Given the description of an element on the screen output the (x, y) to click on. 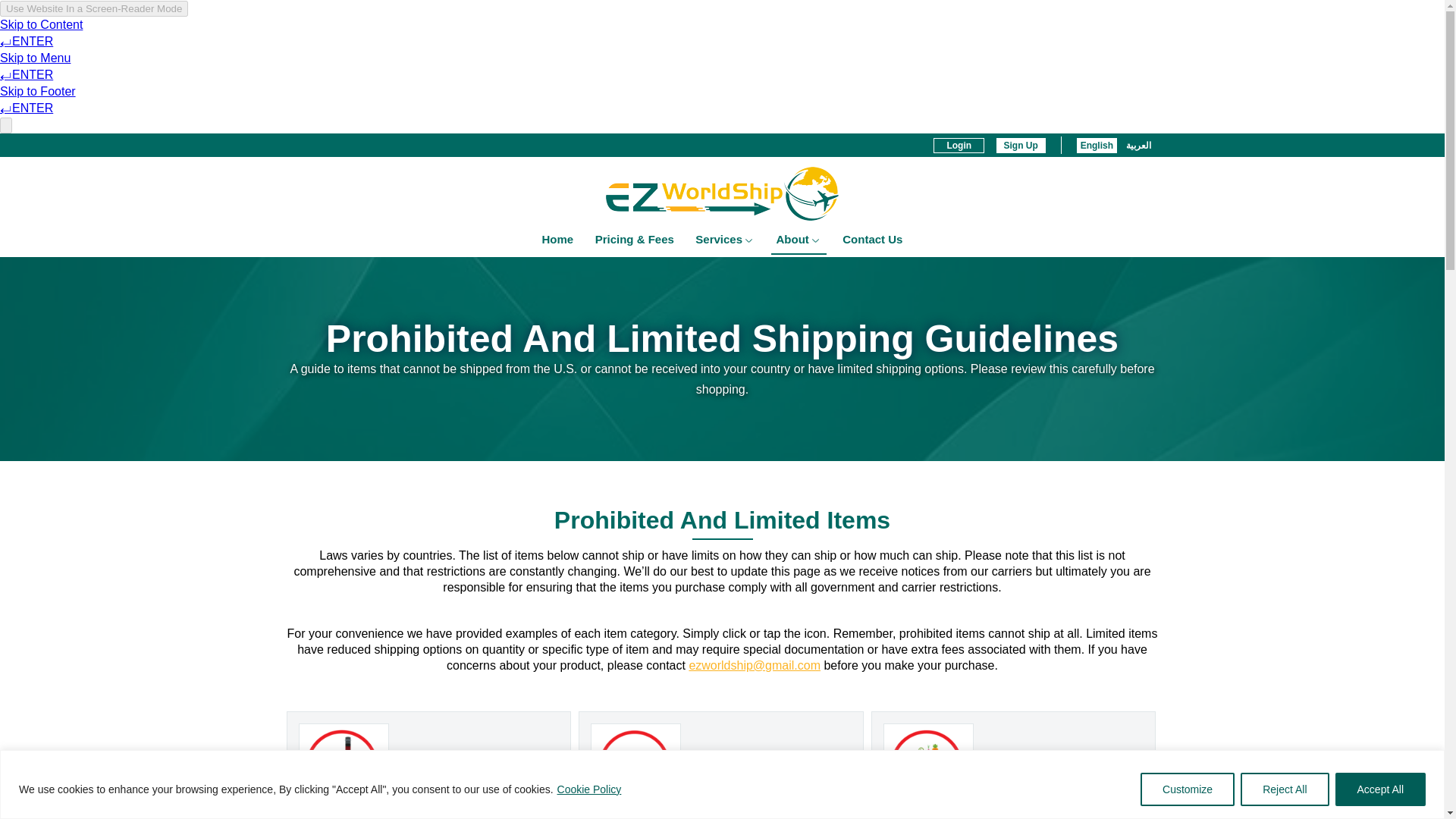
Cookie Policy (589, 789)
Contact Us (872, 240)
Home (558, 240)
Services (725, 240)
Sign Up (1020, 145)
Customize (1187, 788)
About (797, 241)
English (1096, 145)
Accept All (1380, 788)
Login (958, 145)
